Given the description of an element on the screen output the (x, y) to click on. 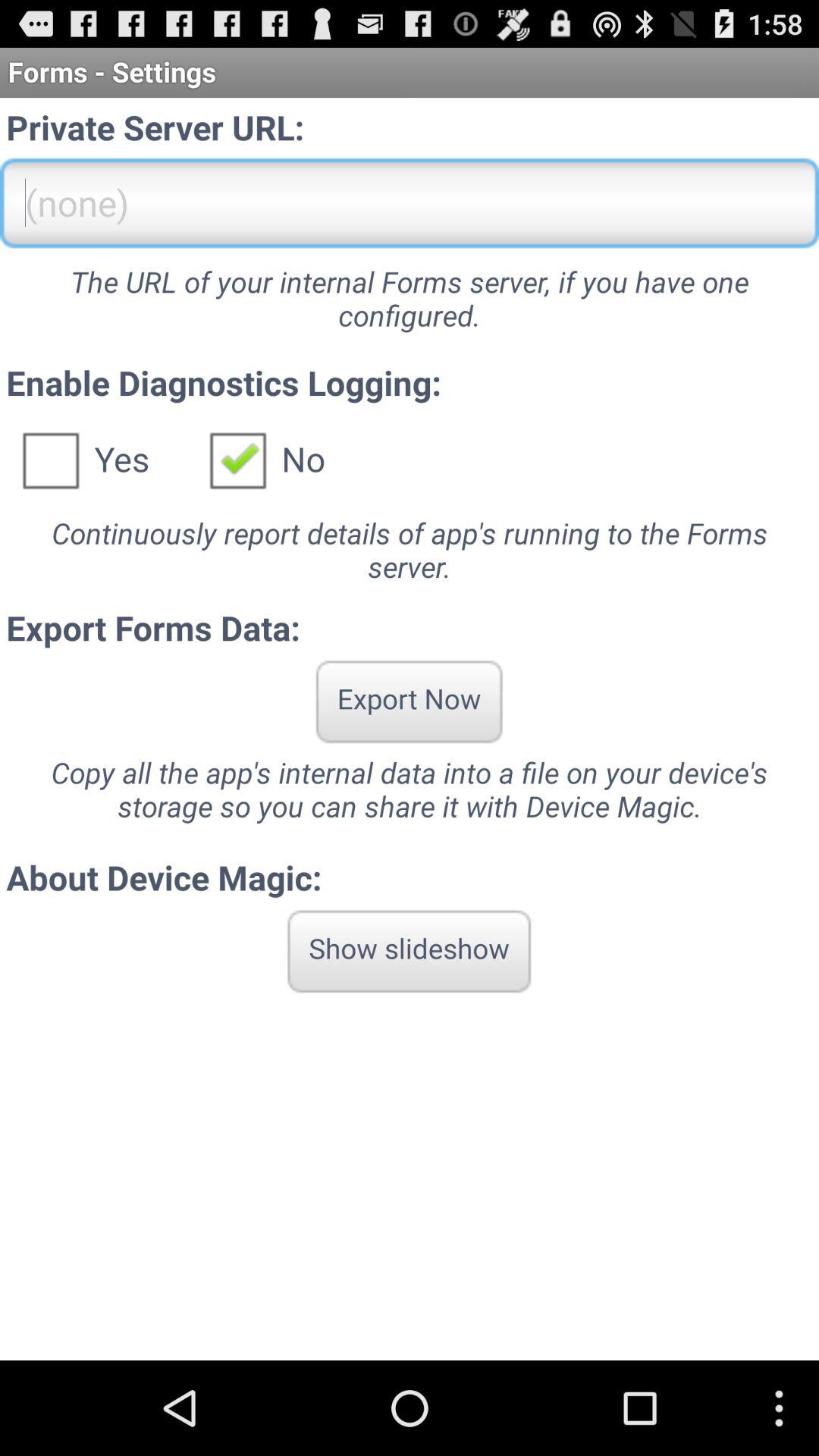
swipe to export now item (409, 701)
